Given the description of an element on the screen output the (x, y) to click on. 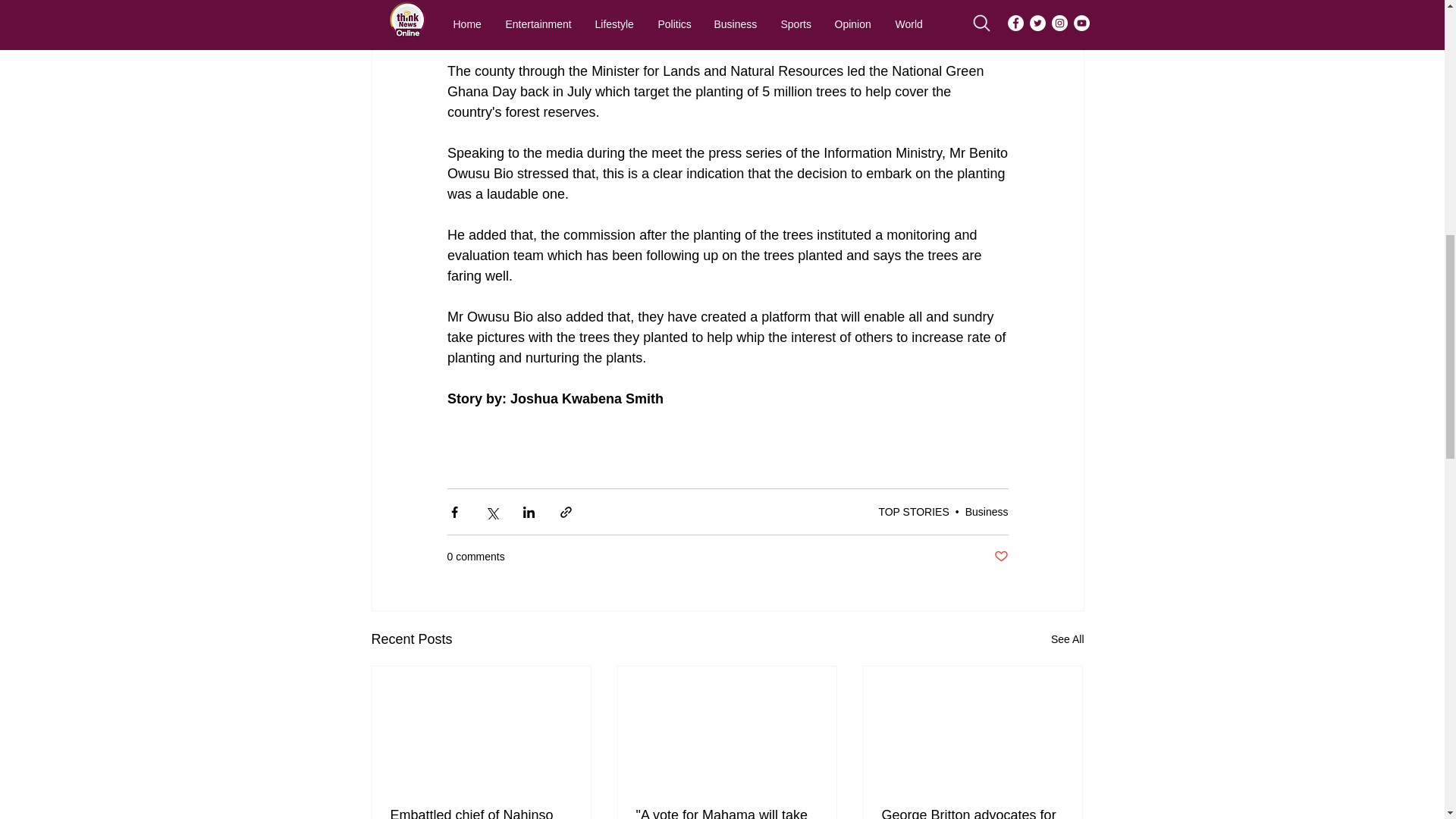
Business (987, 511)
Post not marked as liked (999, 556)
TOP STORIES (913, 511)
See All (1067, 639)
